Given the description of an element on the screen output the (x, y) to click on. 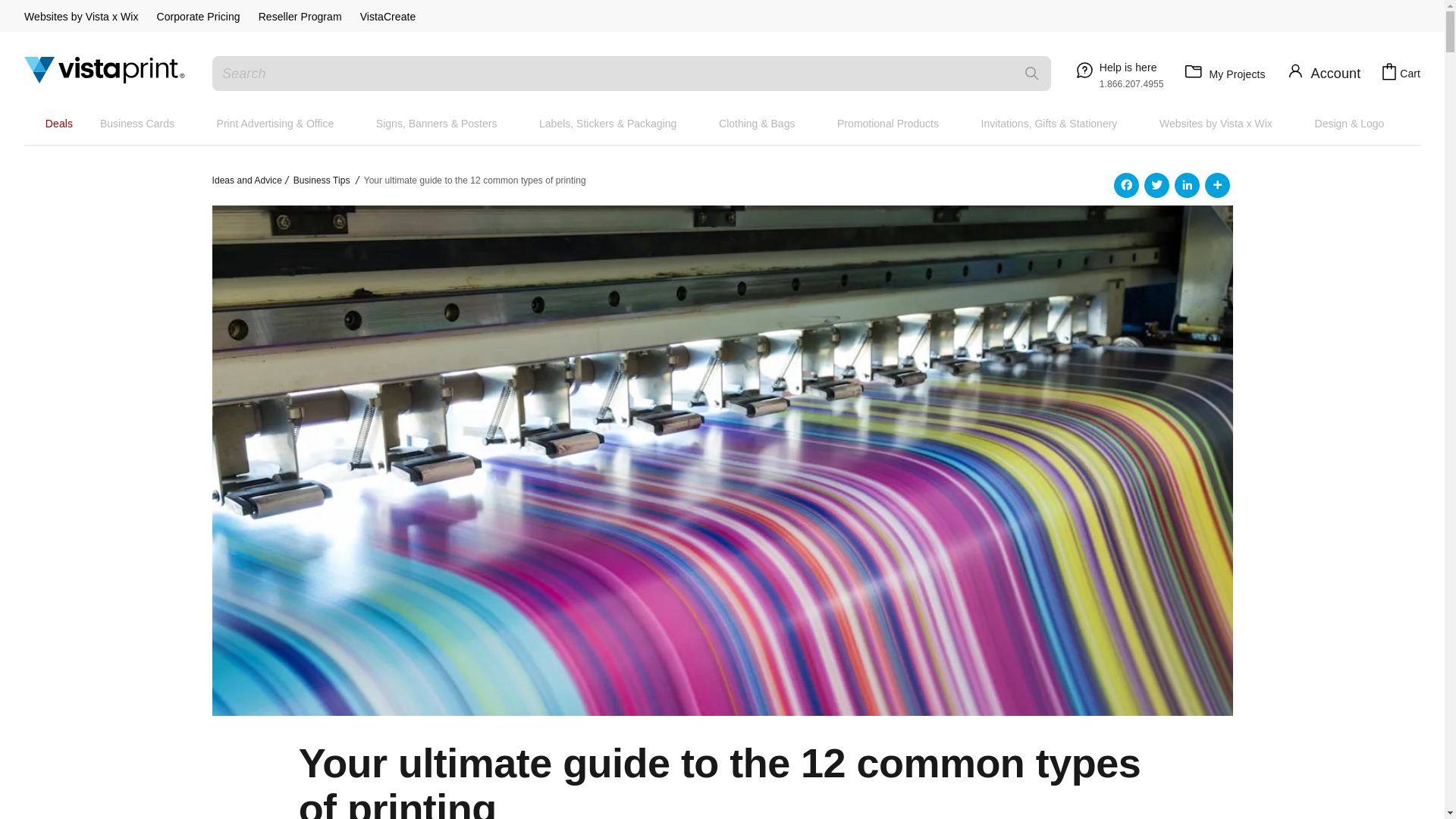
Corporate Pricing (197, 17)
Websites by Vista x Wix (81, 17)
VistaCreate (387, 17)
My Projects (1222, 73)
Reseller Program (300, 17)
Cart (1399, 73)
Twitter (1360, 217)
Facebook (1117, 73)
LinkedIn (1324, 217)
